Given the description of an element on the screen output the (x, y) to click on. 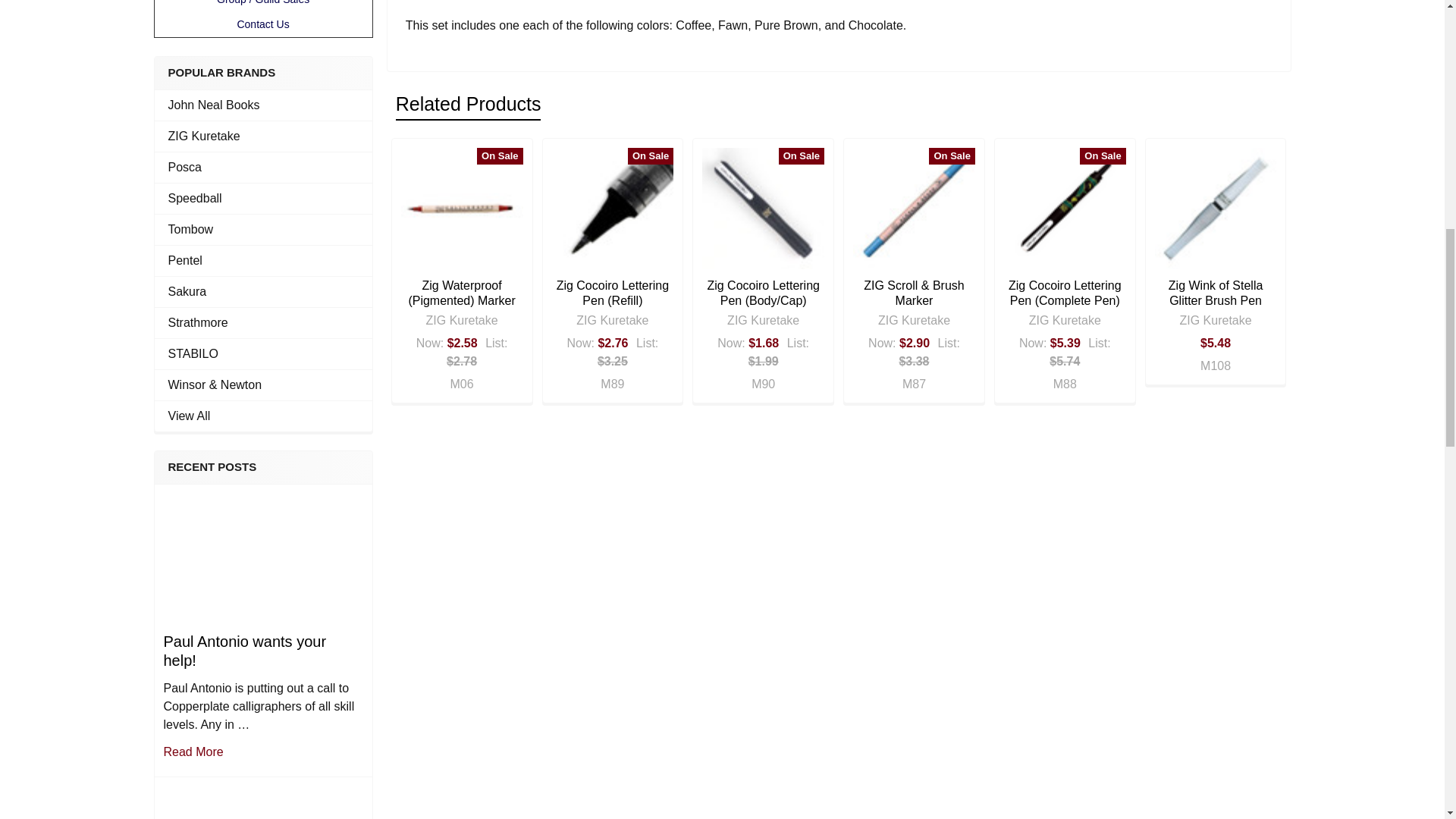
Tombow (263, 229)
ZIG Kuretake (263, 136)
A John Neal Books History Lesson: Manuscript (262, 800)
Sakura (263, 291)
STABILO (263, 353)
Posca (263, 167)
Speedball (263, 198)
John Neal Books (263, 105)
Pentel (263, 260)
Paul Antonio wants your help!  (262, 556)
